Given the description of an element on the screen output the (x, y) to click on. 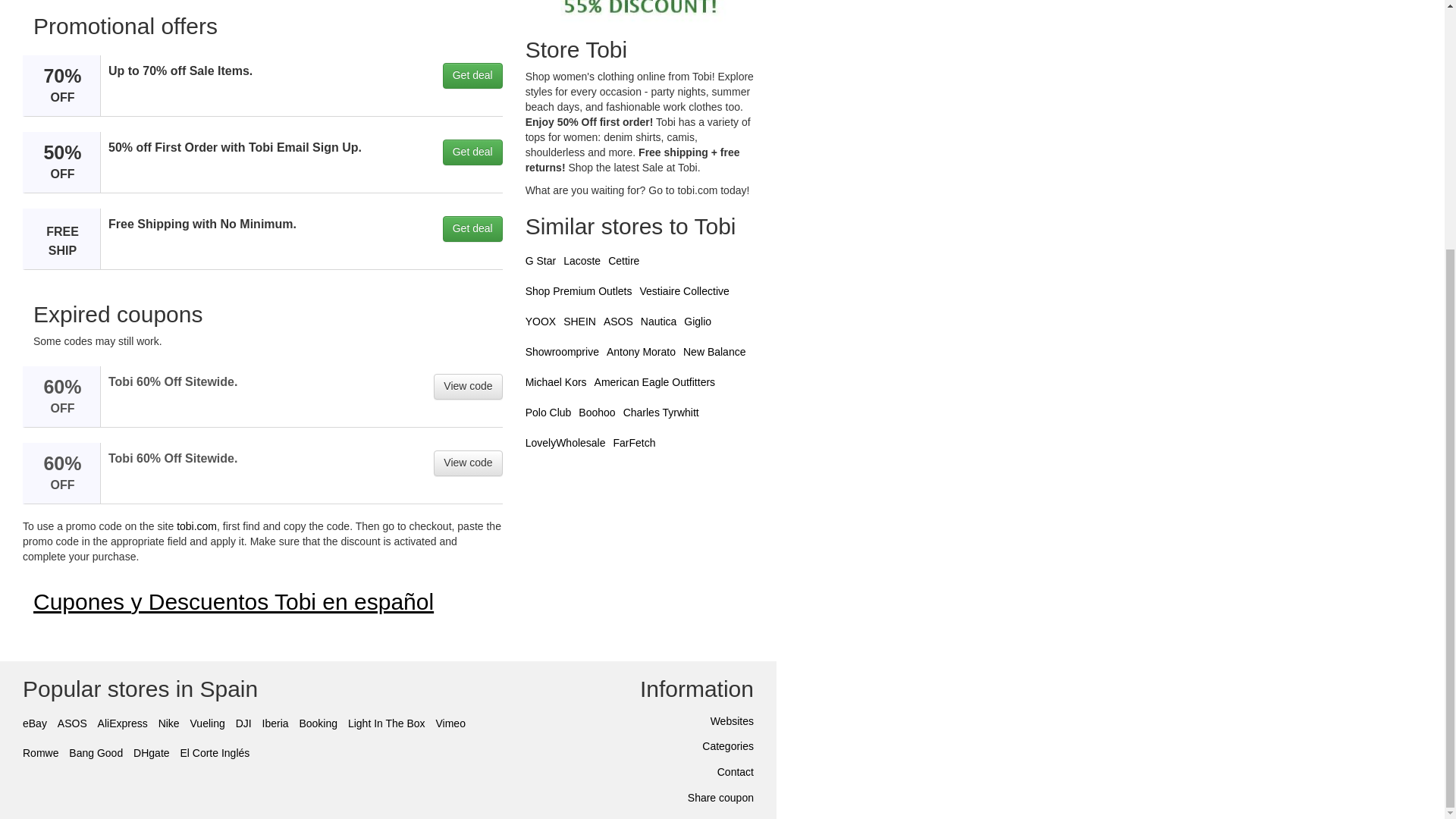
SHEIN (579, 321)
Get deal (472, 228)
eBay (34, 722)
YOOX (540, 321)
Vestiaire Collective (684, 291)
Nautica (658, 321)
View code (467, 386)
Discount coupon Tobi (639, 13)
Cettire (623, 260)
G Star (540, 260)
